Given the description of an element on the screen output the (x, y) to click on. 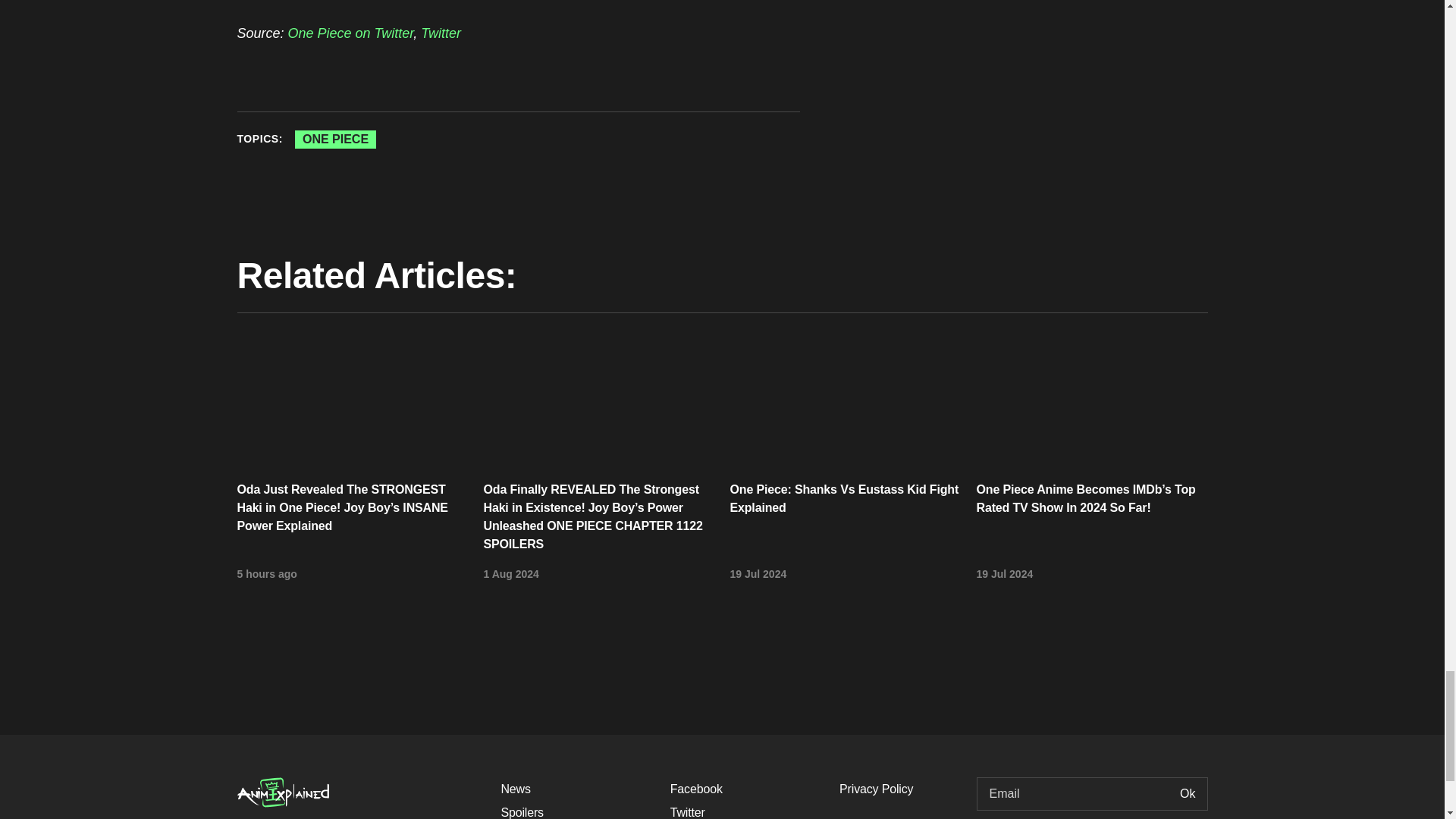
Ok (1187, 793)
